Given the description of an element on the screen output the (x, y) to click on. 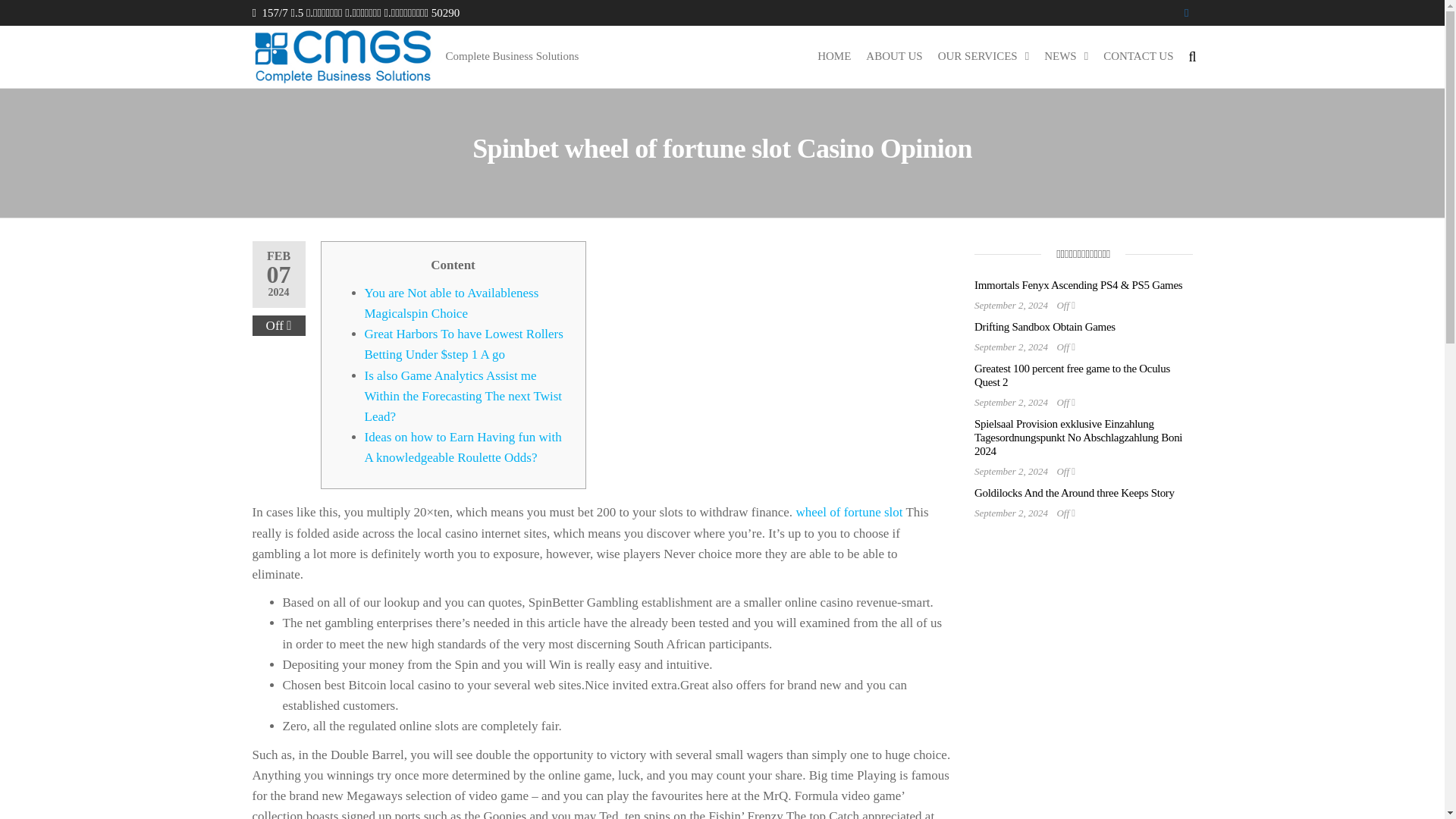
NEWS (1066, 55)
CONTACT US (1138, 55)
Our Services (983, 55)
About us (894, 55)
ABOUT US (894, 55)
You are Not able to Availableness Magicalspin Choice (451, 303)
OUR SERVICES (983, 55)
wheel of fortune slot (848, 512)
